Given the description of an element on the screen output the (x, y) to click on. 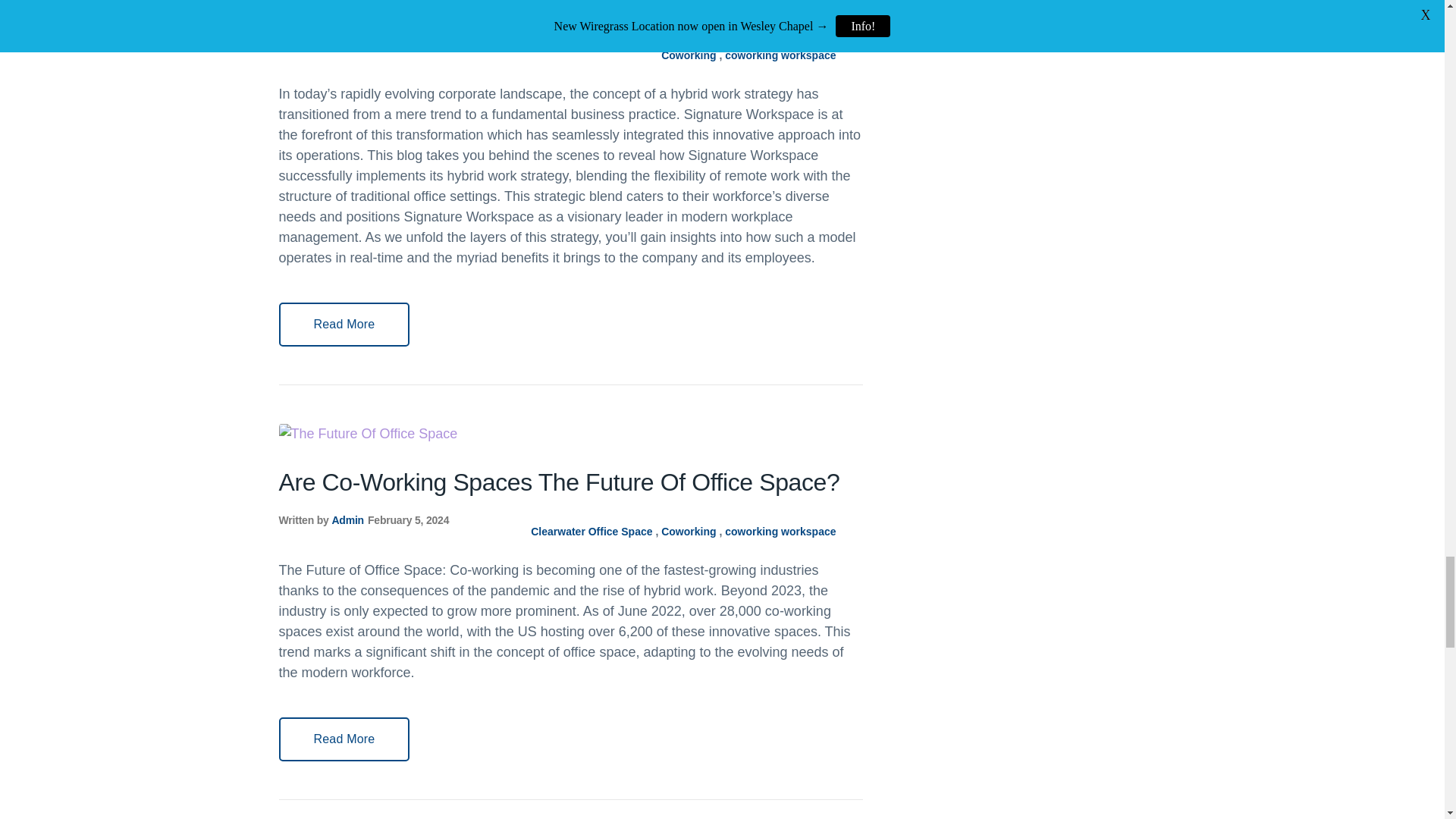
View all posts by Admin (347, 43)
View all posts by Admin (347, 520)
Read More (344, 324)
